Given the description of an element on the screen output the (x, y) to click on. 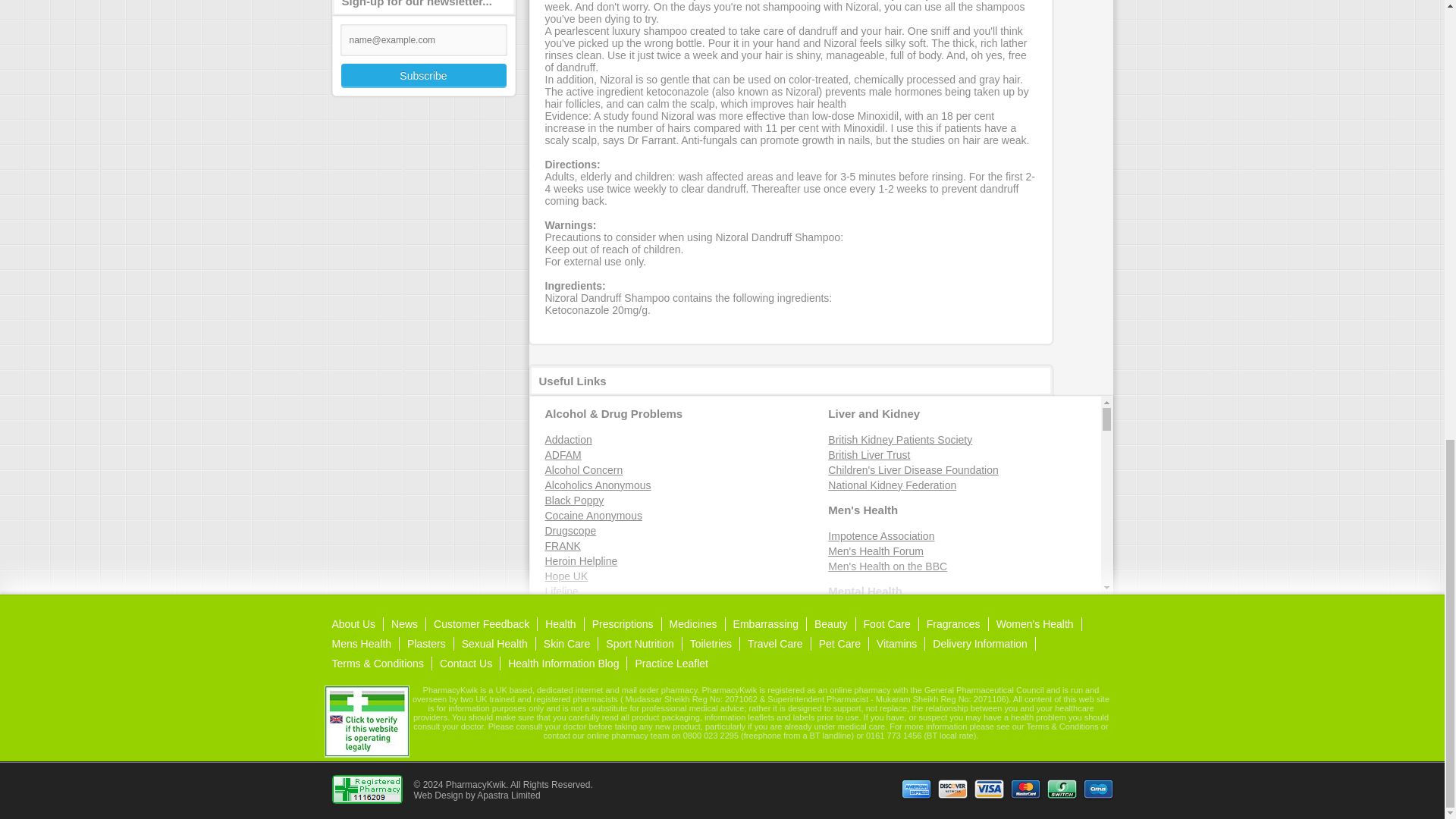
GPhC Registered Pharmacy (366, 799)
Subscribe (423, 75)
